Given the description of an element on the screen output the (x, y) to click on. 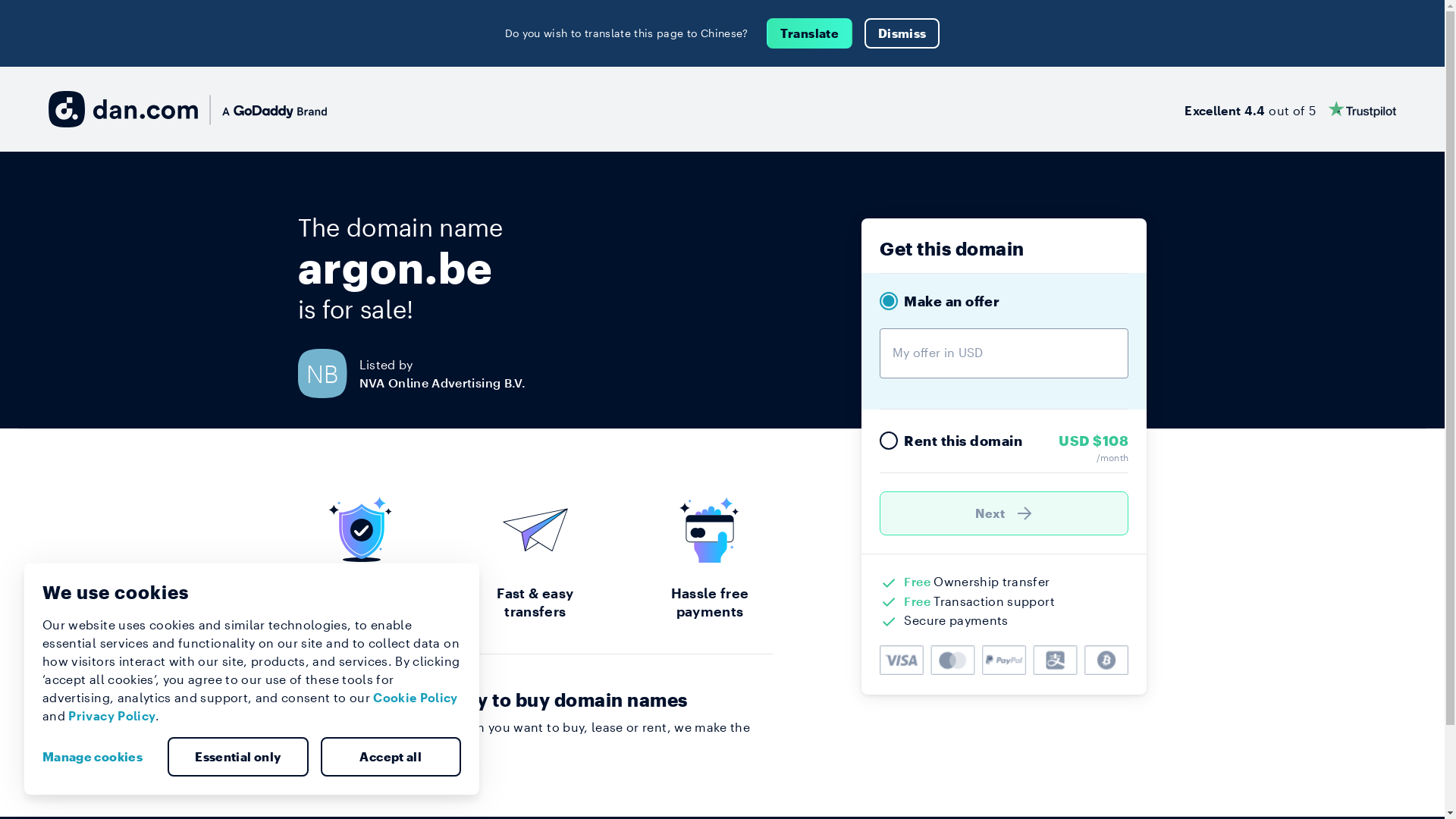
Translate Element type: text (809, 33)
Essential only Element type: text (237, 756)
Accept all Element type: text (390, 756)
Privacy Policy Element type: text (111, 715)
Manage cookies Element type: text (98, 756)
Cookie Policy Element type: text (415, 697)
Dismiss Element type: text (901, 33)
Excellent 4.4 out of 5 Element type: text (1290, 109)
Next
) Element type: text (1003, 513)
